Given the description of an element on the screen output the (x, y) to click on. 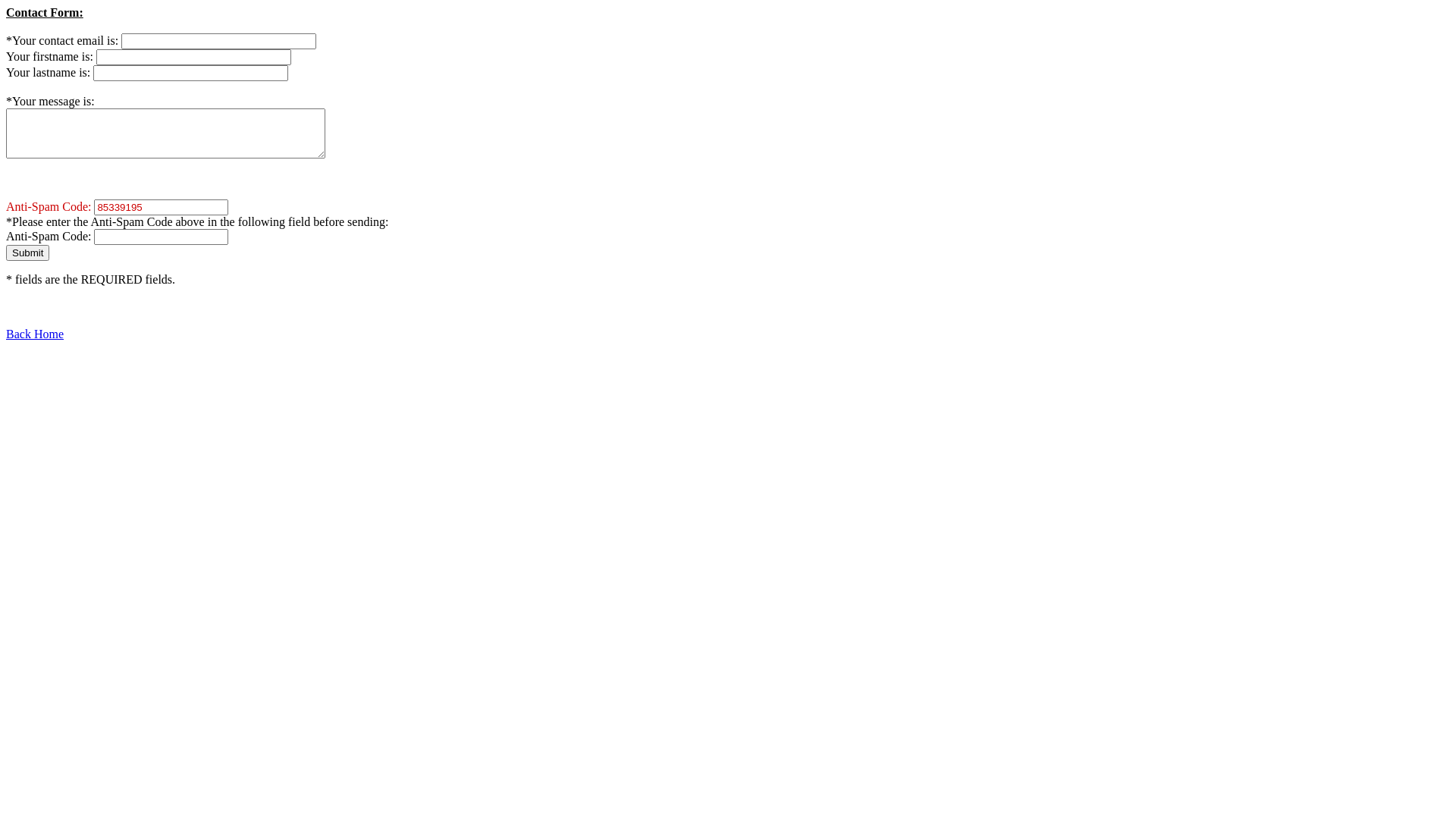
Back Home Element type: text (34, 333)
